Given the description of an element on the screen output the (x, y) to click on. 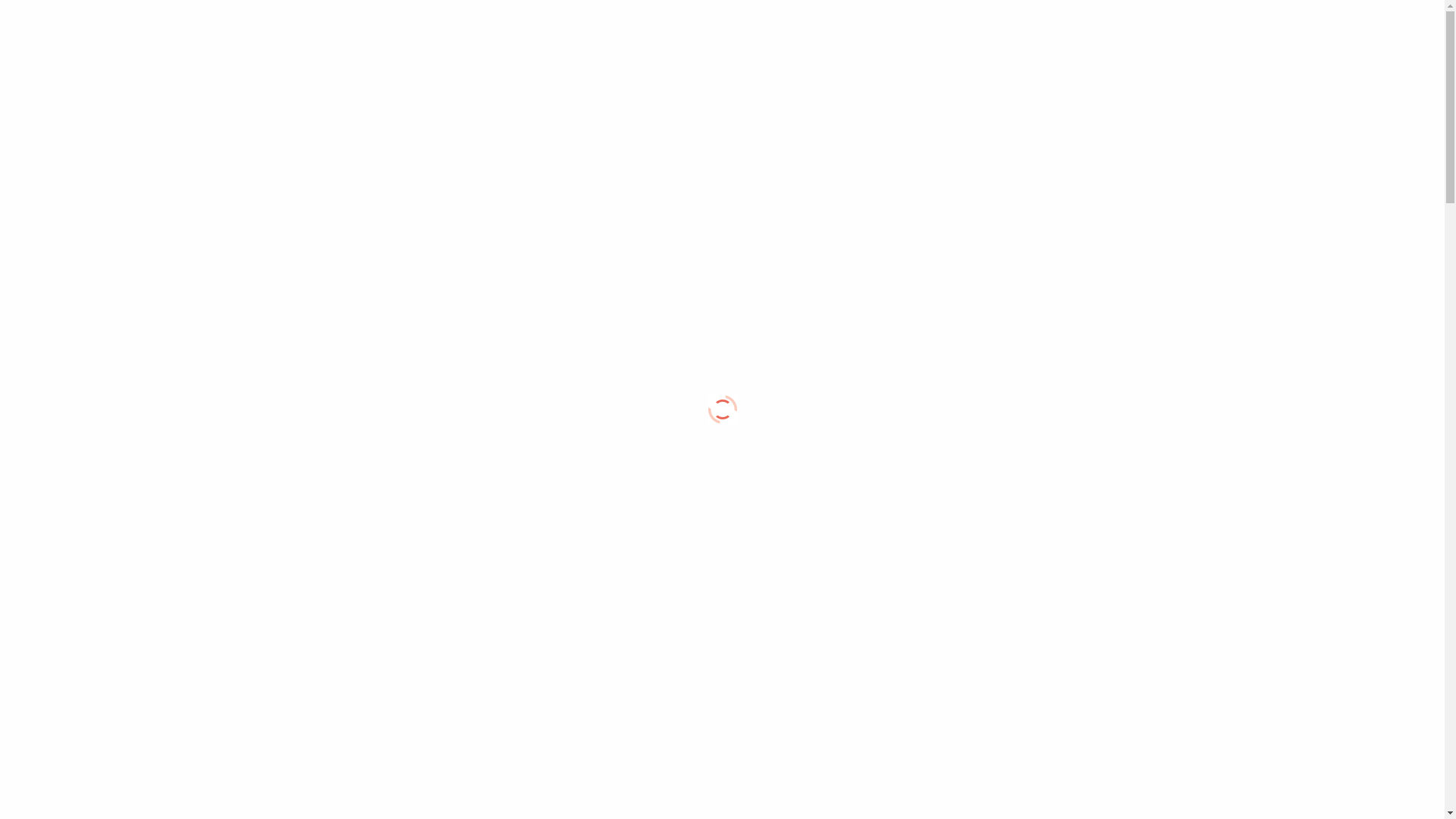
Contact Us Element type: text (1124, 28)
Home Element type: text (889, 28)
Use Our Images Element type: text (1037, 28)
Learn More Element type: text (950, 28)
Skip to content Element type: text (6, 12)
